Given the description of an element on the screen output the (x, y) to click on. 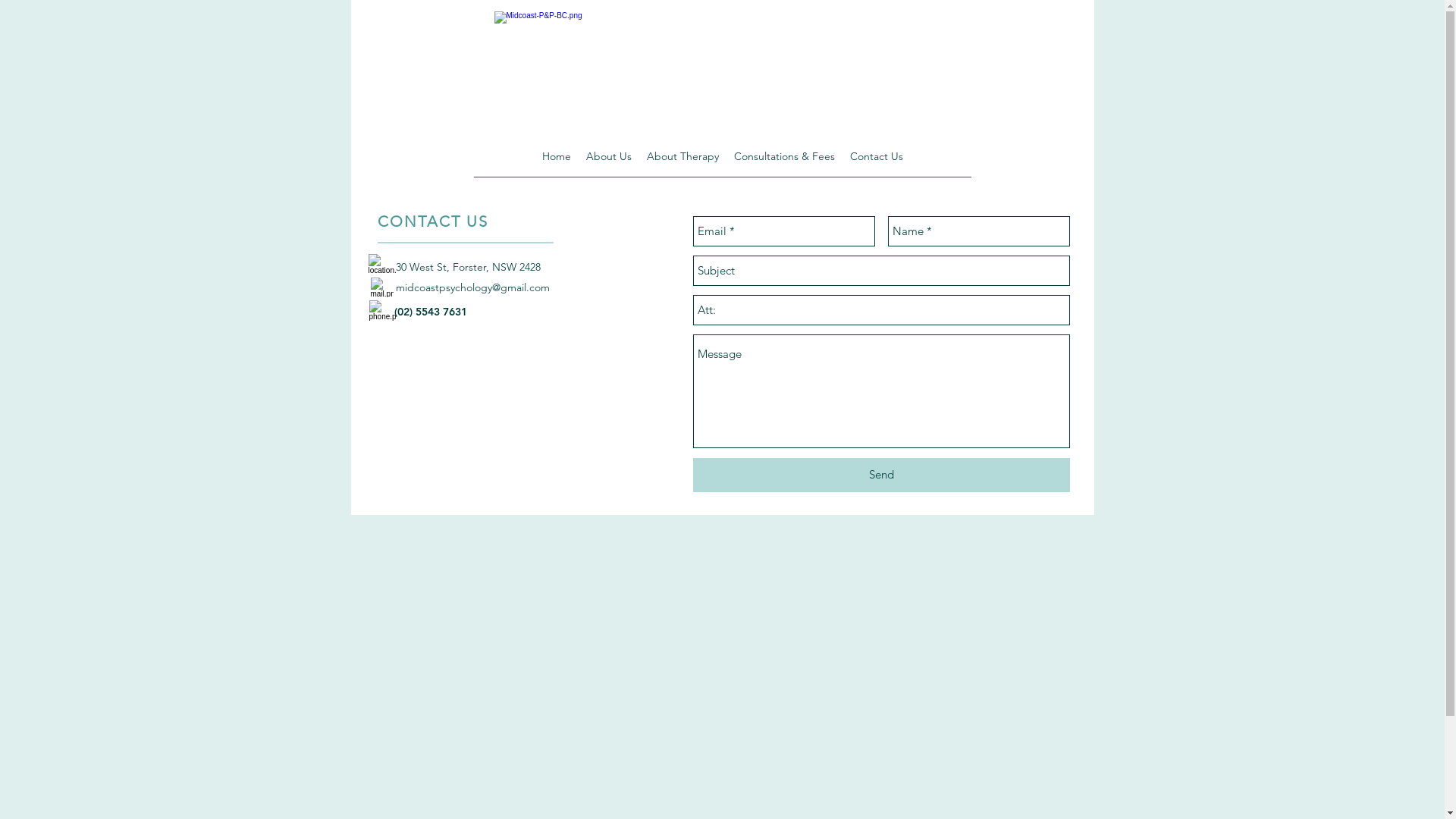
About Therapy Element type: text (681, 155)
Contact Us Element type: text (875, 155)
About Us Element type: text (607, 155)
Consultations & Fees Element type: text (784, 155)
Send Element type: text (881, 475)
Home Element type: text (555, 155)
midcoastpsychology@gmail.com Element type: text (472, 287)
 (02) 5543 7631 Element type: text (429, 311)
